Given the description of an element on the screen output the (x, y) to click on. 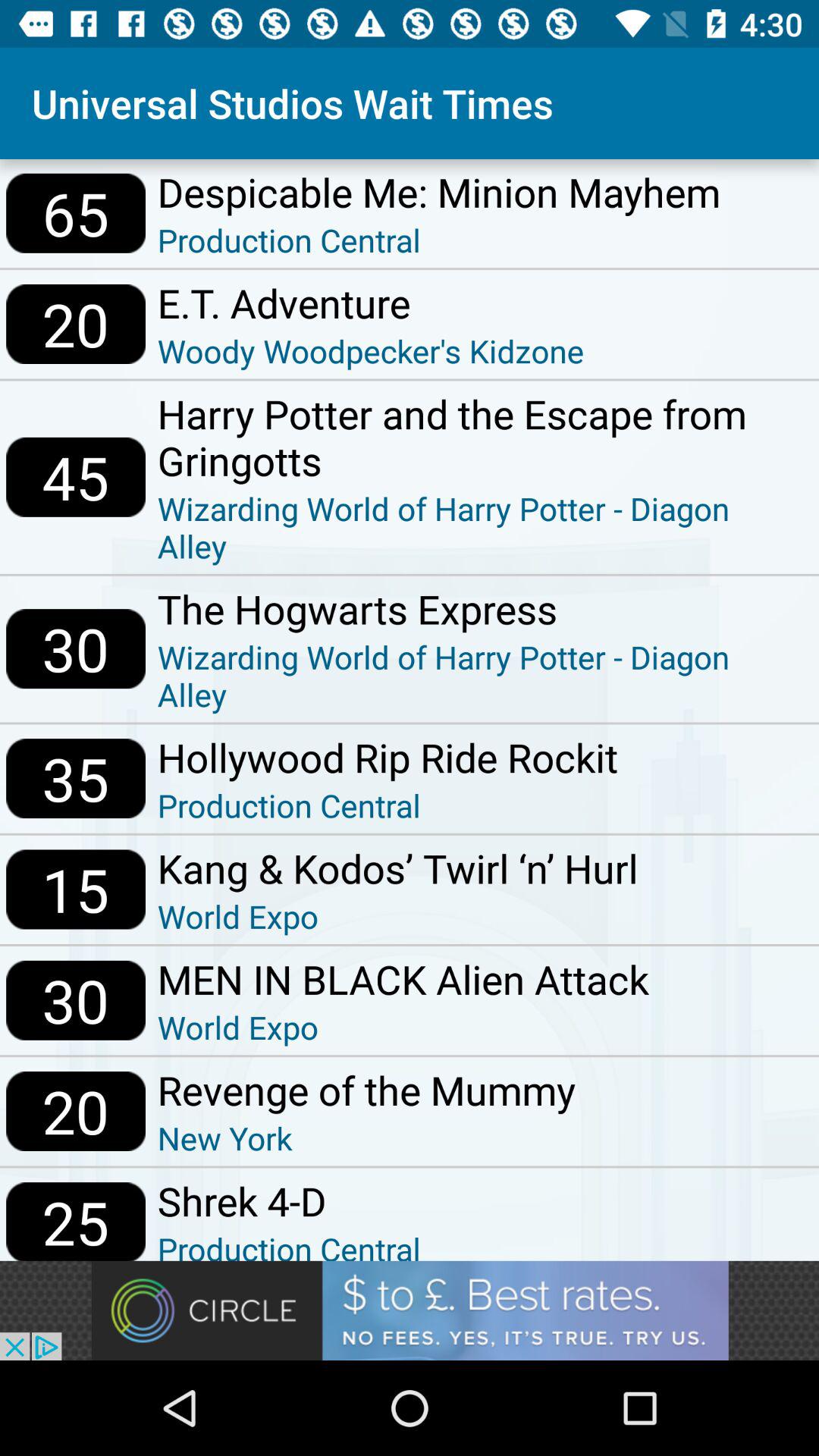
turn on the item above the 30 item (75, 476)
